Given the description of an element on the screen output the (x, y) to click on. 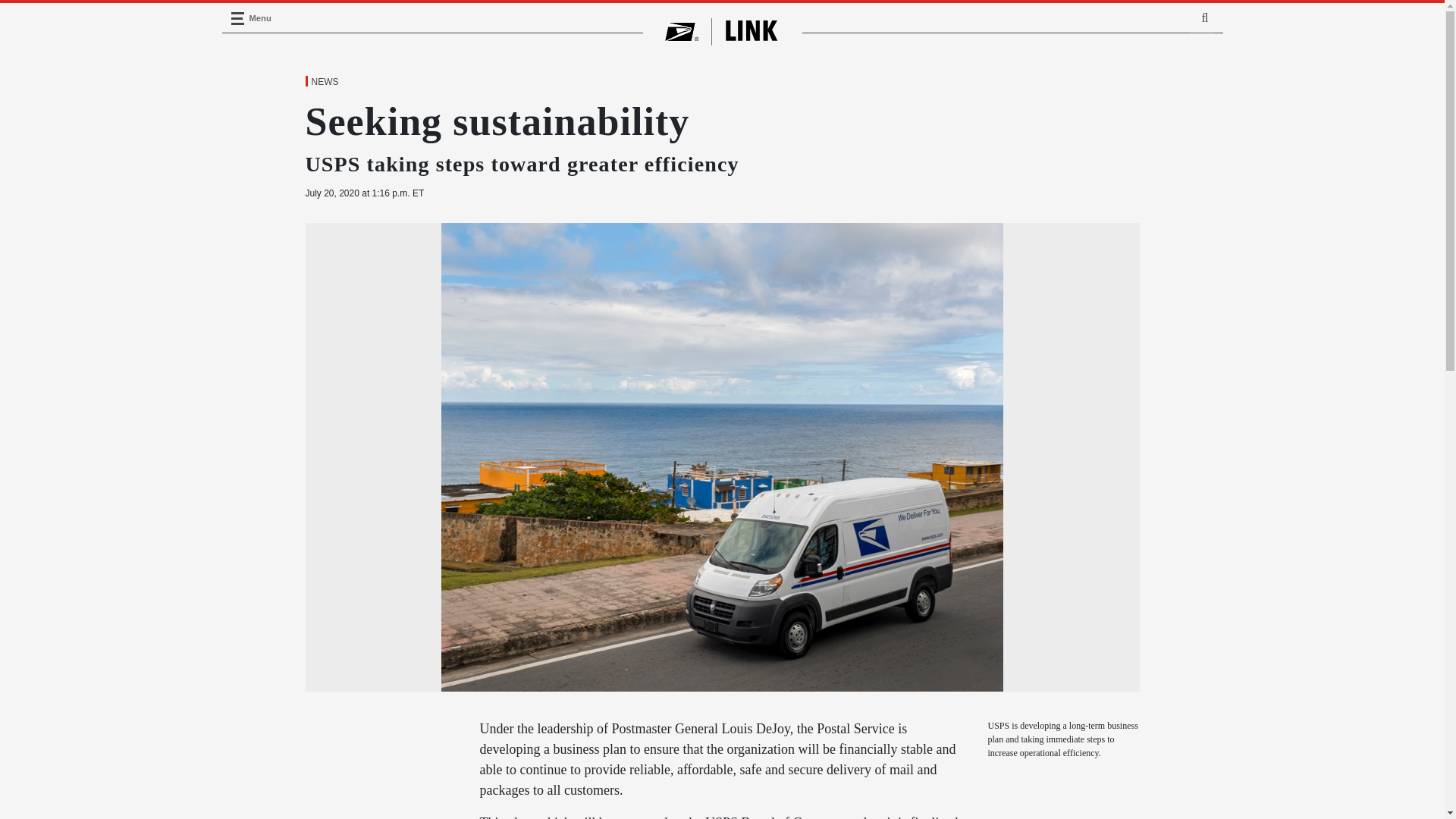
NEWS (323, 81)
Menu (237, 18)
